Given the description of an element on the screen output the (x, y) to click on. 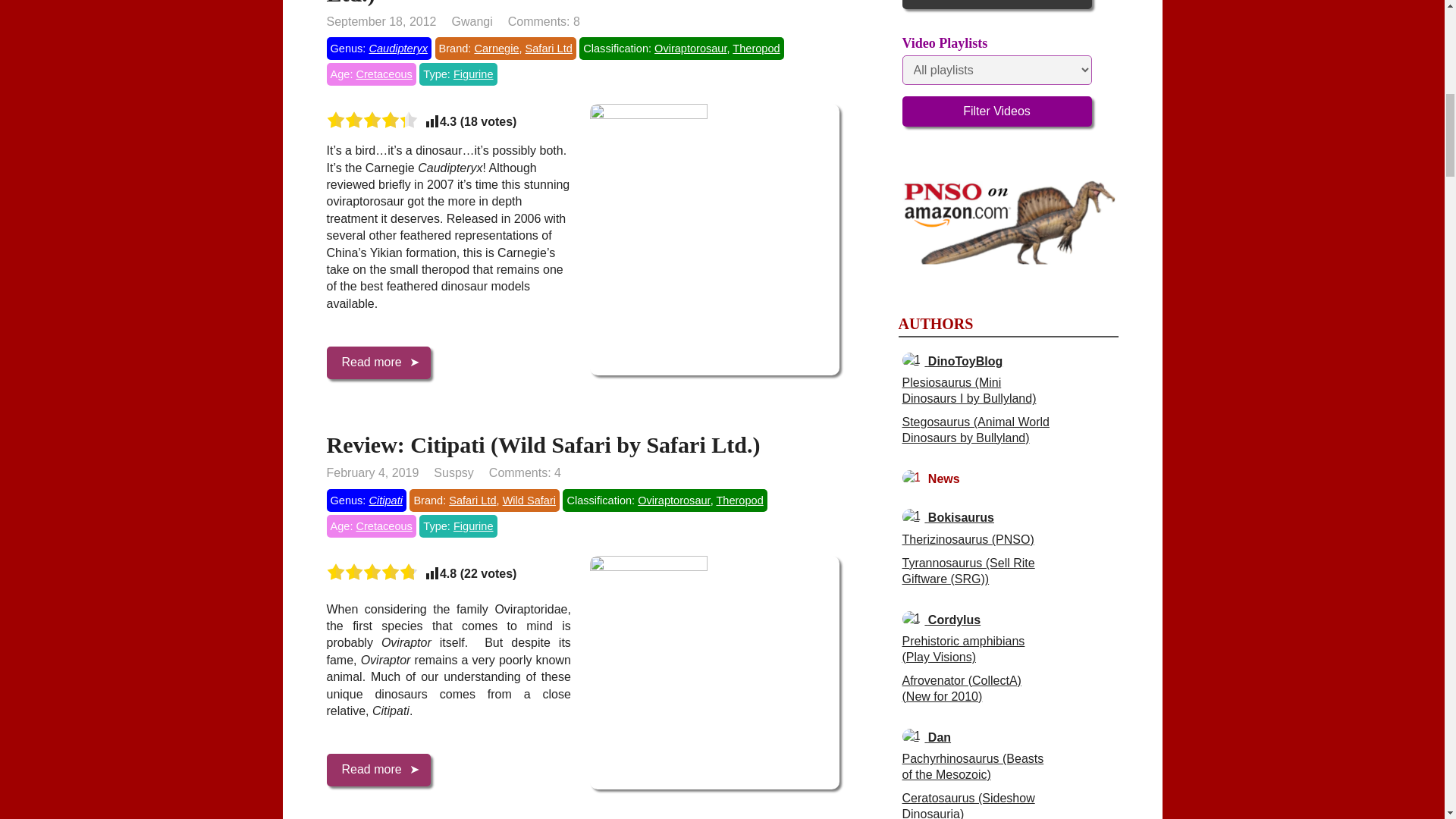
Filter News (997, 4)
Posts by Suspsy (453, 472)
Posts by Gwangi (472, 21)
Brand: Carnegie, Safari Ltd (505, 47)
Genus: Caudipteryx (378, 47)
Filter Videos (997, 111)
Comments: 8 (543, 21)
Caudipteryx (398, 48)
Gwangi (472, 21)
